Given the description of an element on the screen output the (x, y) to click on. 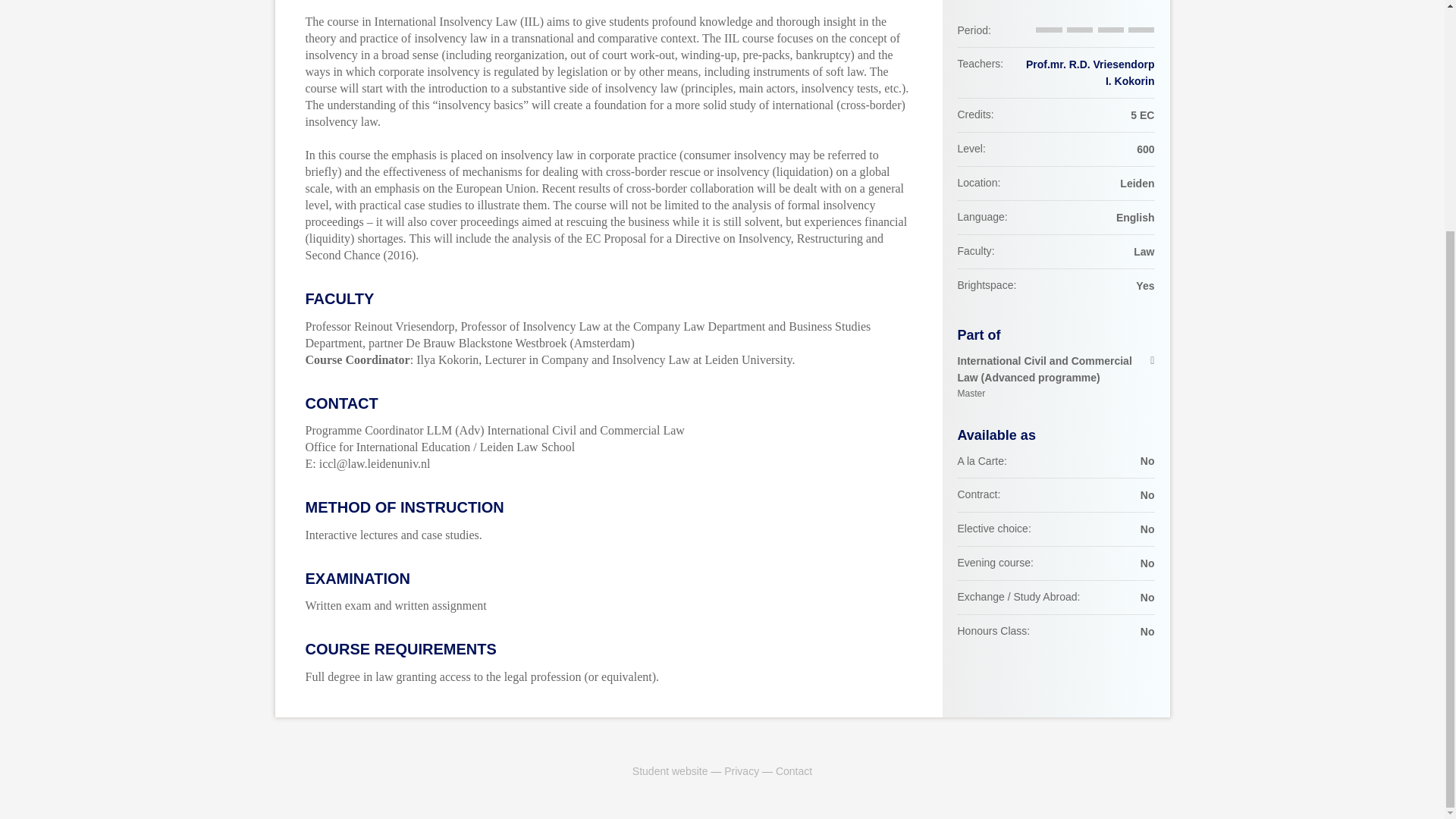
I. Kokorin (1129, 80)
Prof.mr. R.D. Vriesendorp (1090, 64)
Privacy (740, 770)
Student website (669, 770)
Contact (794, 770)
